Given the description of an element on the screen output the (x, y) to click on. 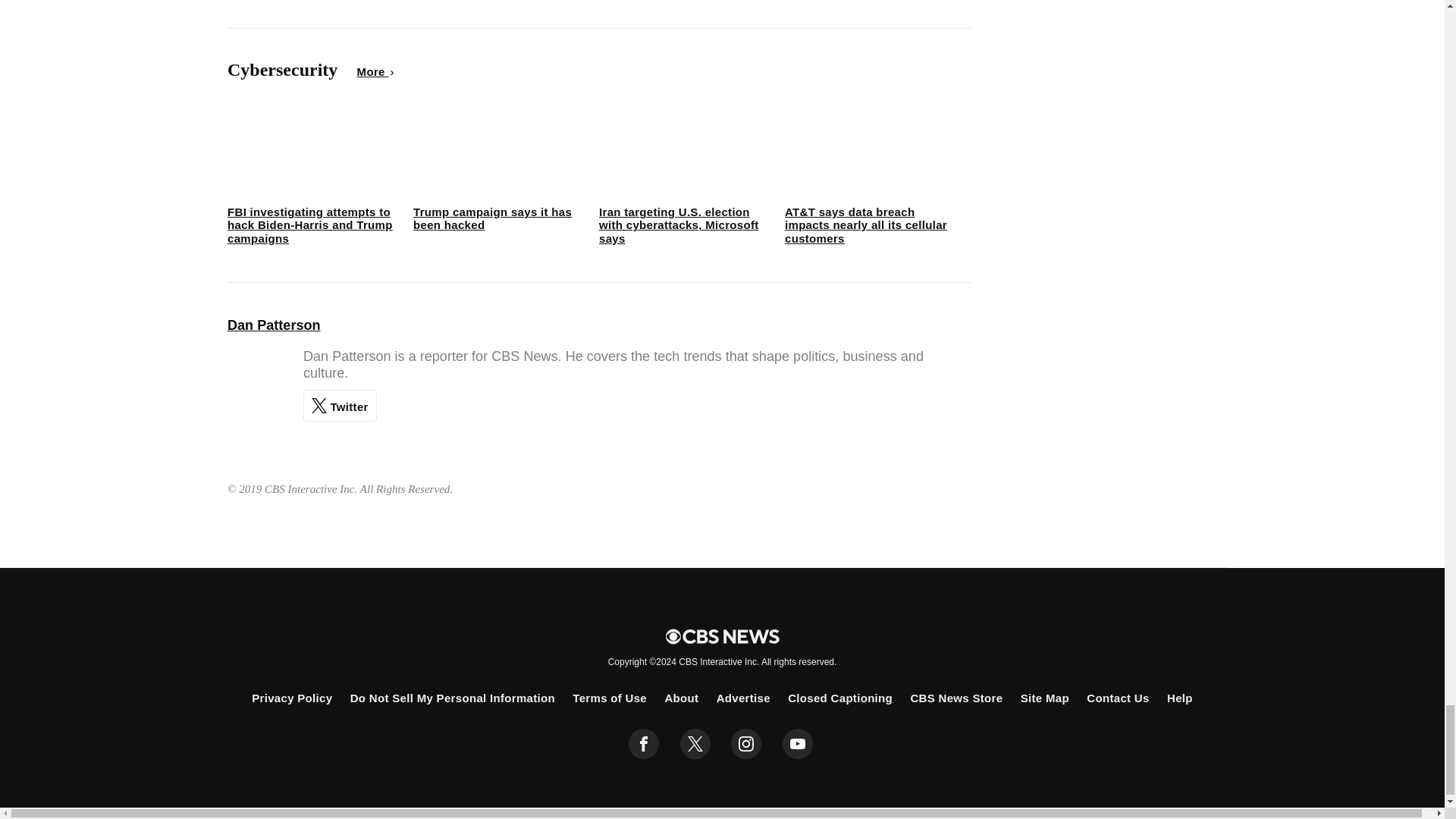
twitter (694, 743)
facebook (643, 743)
instagram (745, 743)
youtube (797, 743)
